Given the description of an element on the screen output the (x, y) to click on. 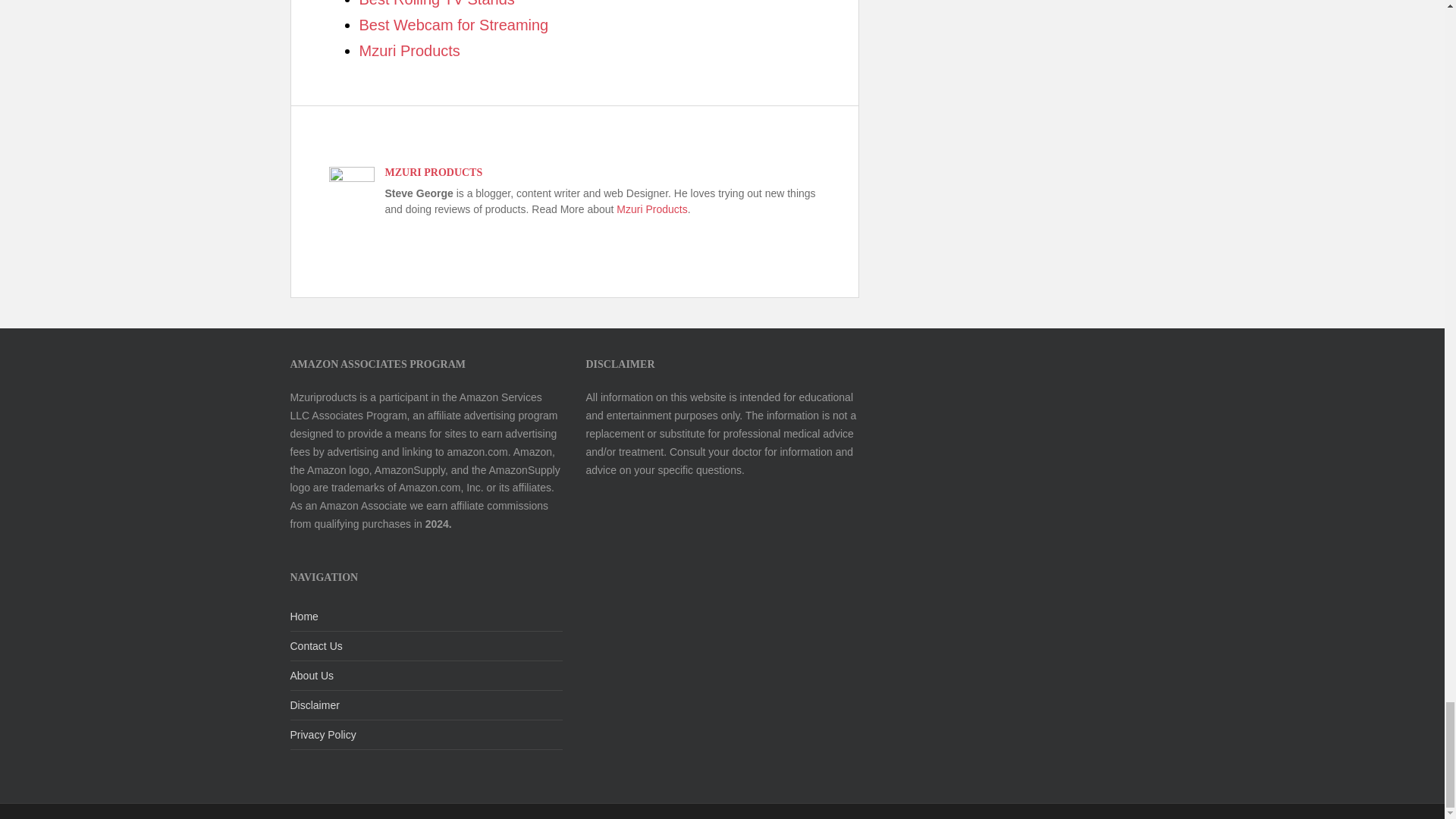
Mzuri Products (409, 50)
Best Webcam for Streaming (453, 24)
Best Rolling TV Stands (437, 3)
MZURI PRODUCTS (434, 172)
Mzuri Products (651, 209)
